Given the description of an element on the screen output the (x, y) to click on. 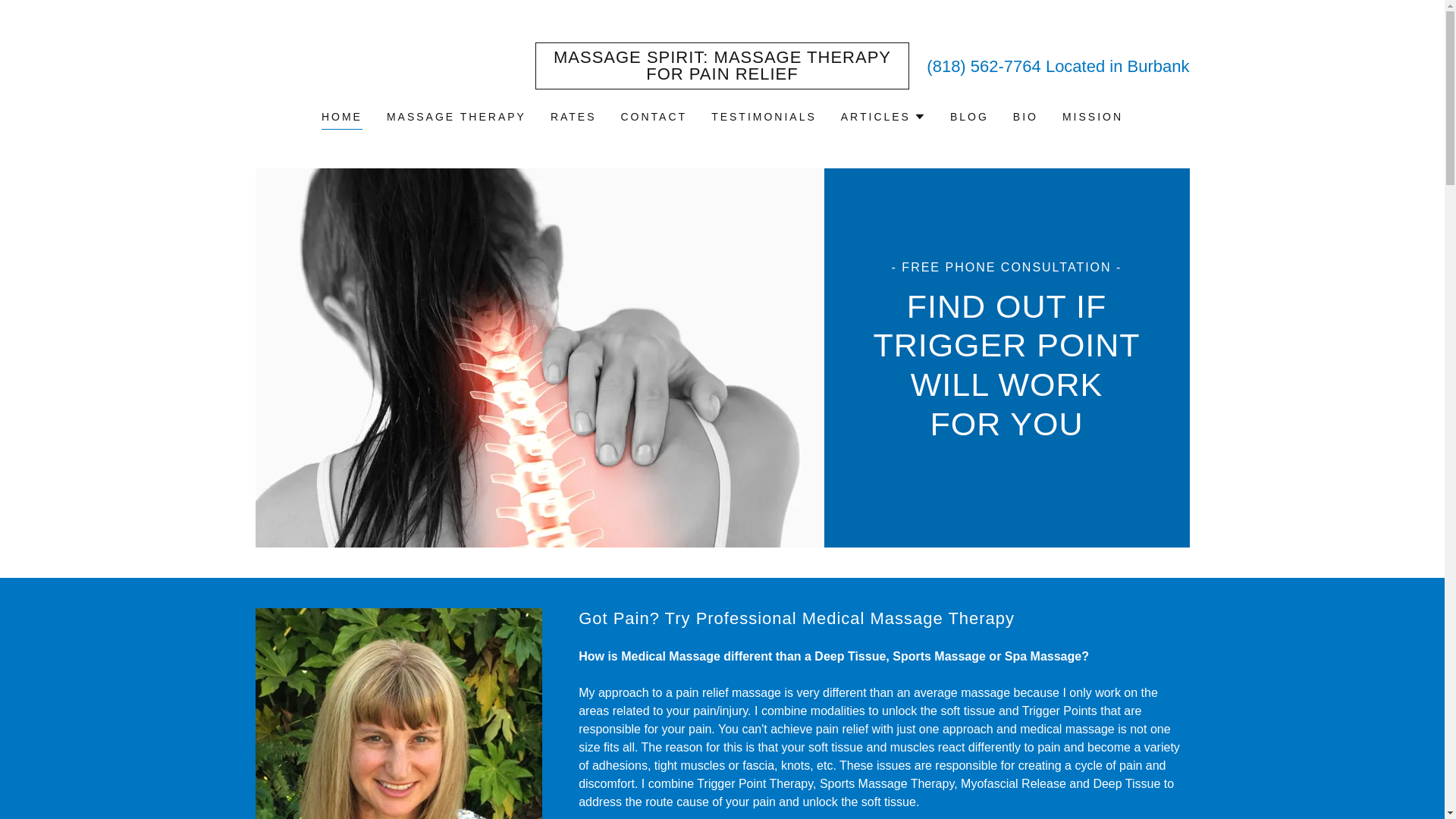
BLOG (968, 116)
Massage Spirit: Massage Therapy for Pain Relief (721, 74)
HOME (341, 118)
MISSION (1092, 116)
TESTIMONIALS (763, 116)
MASSAGE THERAPY (456, 116)
BIO (1025, 116)
MASSAGE SPIRIT: MASSAGE THERAPY FOR PAIN RELIEF (721, 74)
ARTICLES (883, 116)
RATES (573, 116)
